Given the description of an element on the screen output the (x, y) to click on. 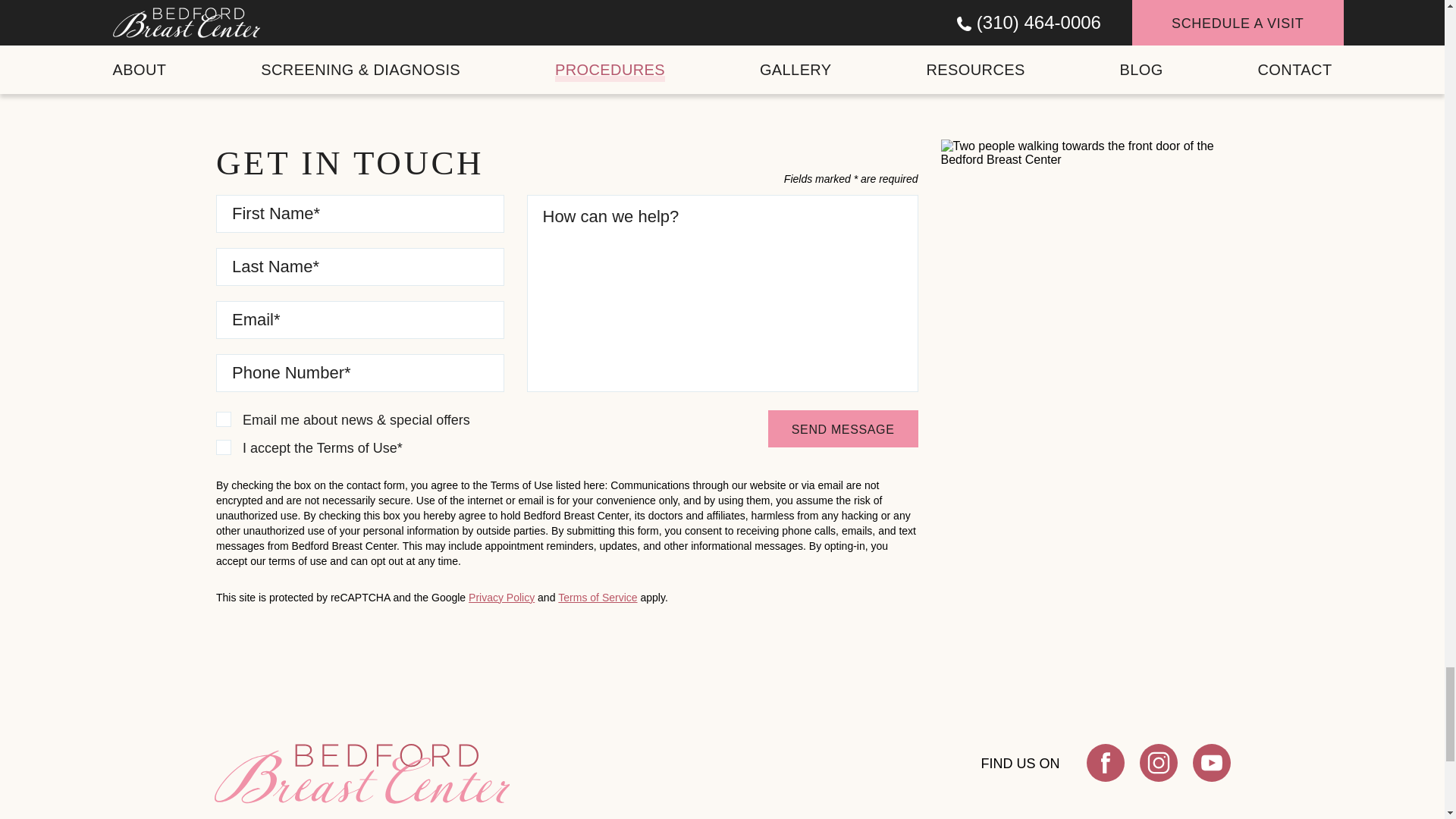
checked (223, 418)
checked (223, 447)
Bedford Breast Center Google Maps location (1084, 456)
